Given the description of an element on the screen output the (x, y) to click on. 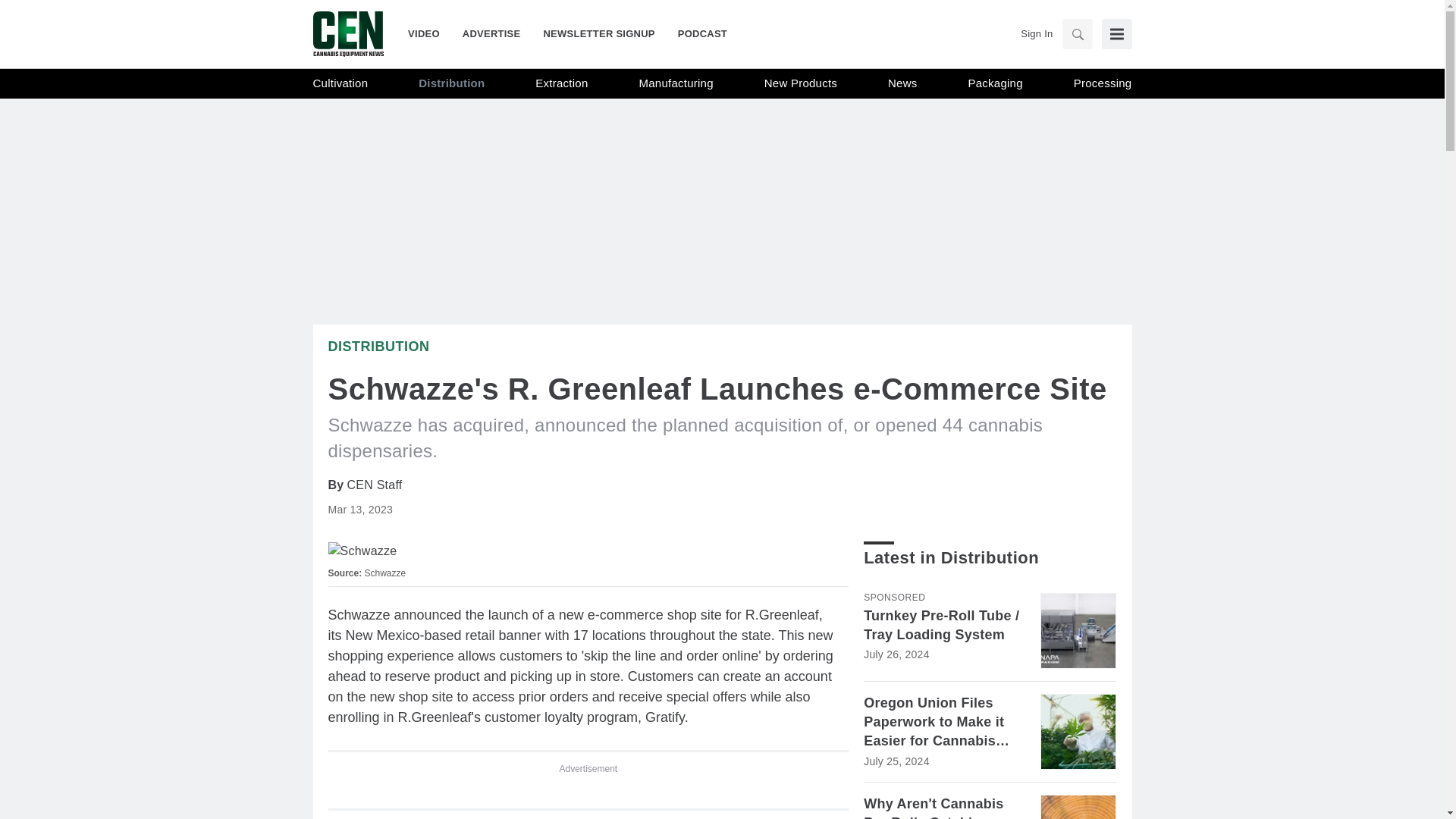
Processing (1103, 83)
Packaging (995, 83)
Sign In (1036, 33)
ADVERTISE (491, 33)
Distribution (451, 83)
VIDEO (429, 33)
Sponsored (893, 596)
PODCAST (696, 33)
Cultivation (340, 83)
Manufacturing (676, 83)
Extraction (561, 83)
New Products (800, 83)
News (902, 83)
NEWSLETTER SIGNUP (598, 33)
Distribution (378, 346)
